Given the description of an element on the screen output the (x, y) to click on. 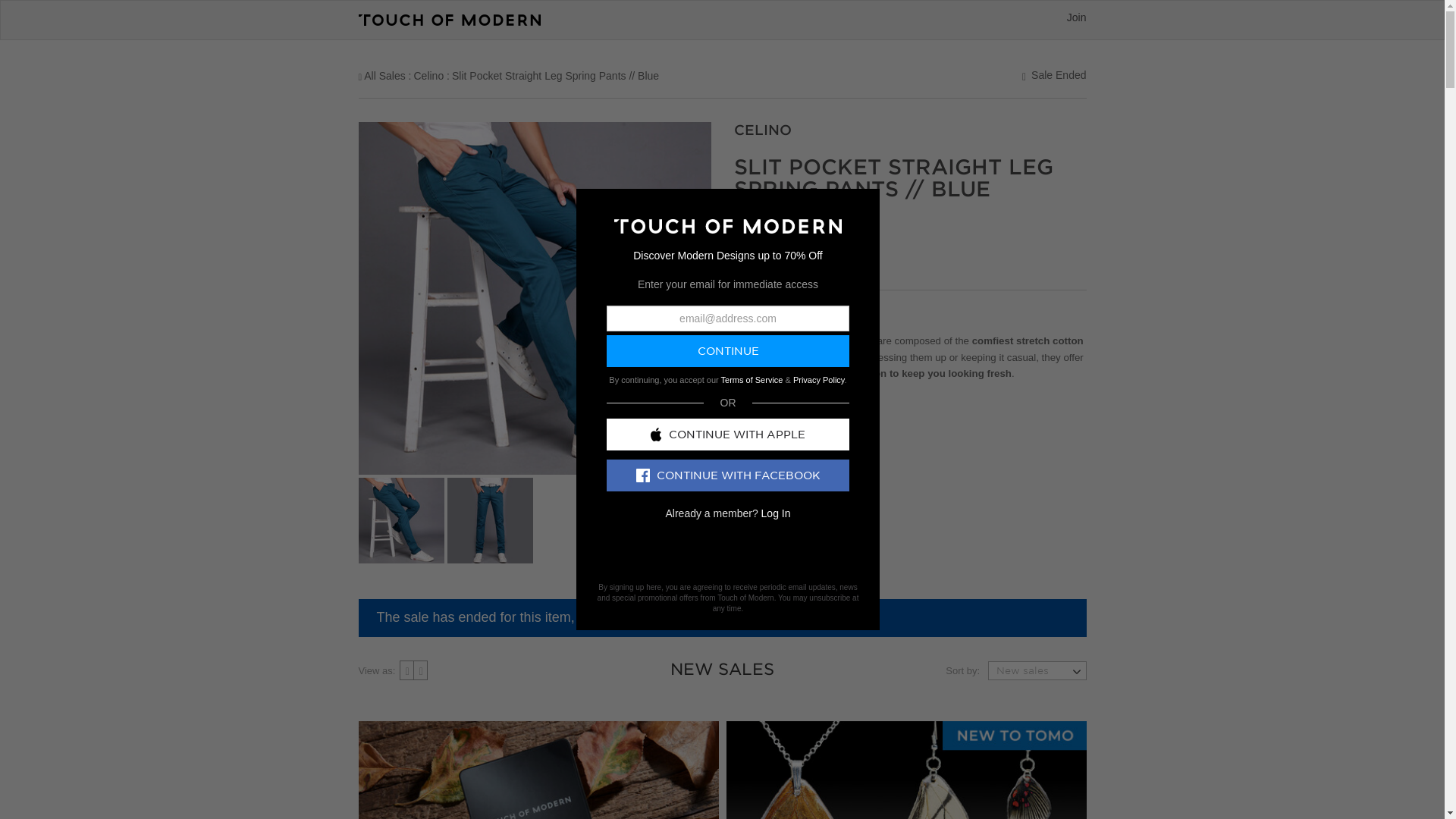
Continue (727, 350)
Join (1076, 17)
Size chart (814, 258)
Celino (428, 75)
All Sales (384, 75)
Celino (428, 75)
All Sales (384, 75)
